Given the description of an element on the screen output the (x, y) to click on. 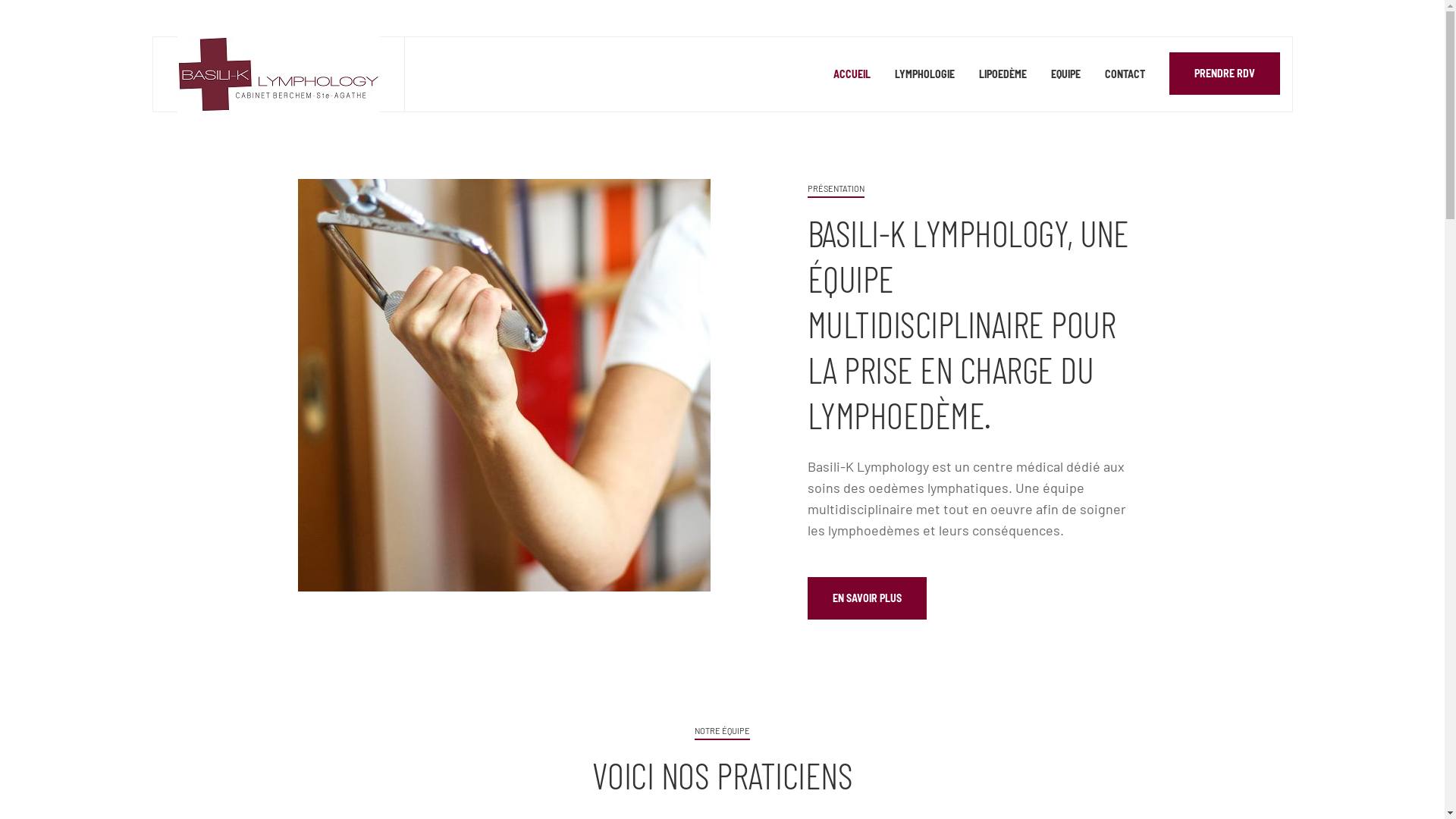
CONTACT Element type: text (1124, 74)
LYMPHOLOGIE Element type: text (924, 74)
ACCUEIL Element type: text (850, 74)
EN SAVOIR PLUS Element type: text (865, 598)
EQUIPE Element type: text (1065, 74)
PRENDRE RDV Element type: text (1224, 73)
